Given the description of an element on the screen output the (x, y) to click on. 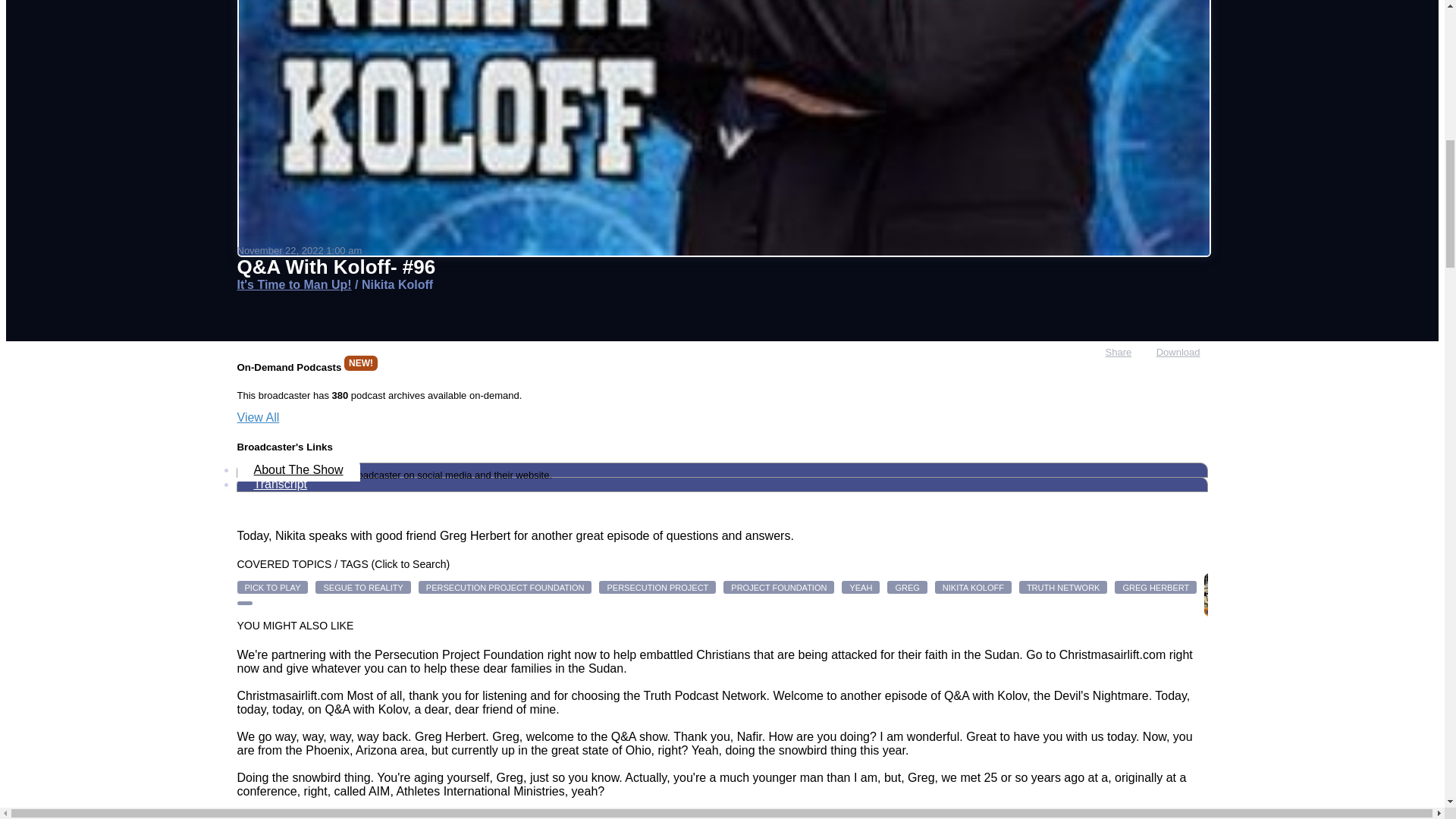
Go to Show Details (292, 284)
